Given the description of an element on the screen output the (x, y) to click on. 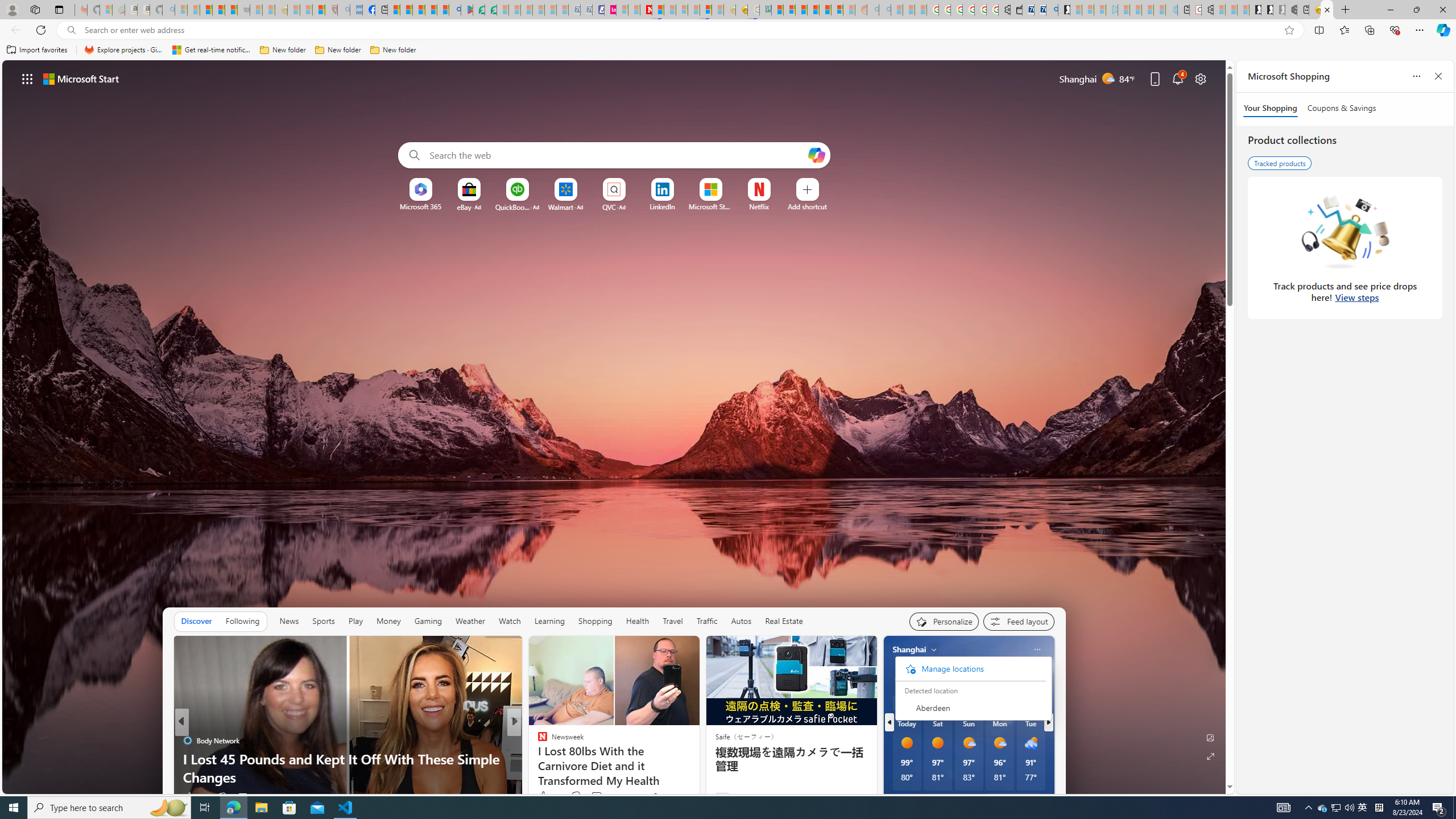
Personalize your feed" (943, 621)
Rain showers (1030, 742)
View comments 73 Comment (595, 795)
Notifications (1177, 78)
Sports (323, 621)
Health (637, 621)
See full forecast (1013, 799)
Gaming (428, 621)
